Given the description of an element on the screen output the (x, y) to click on. 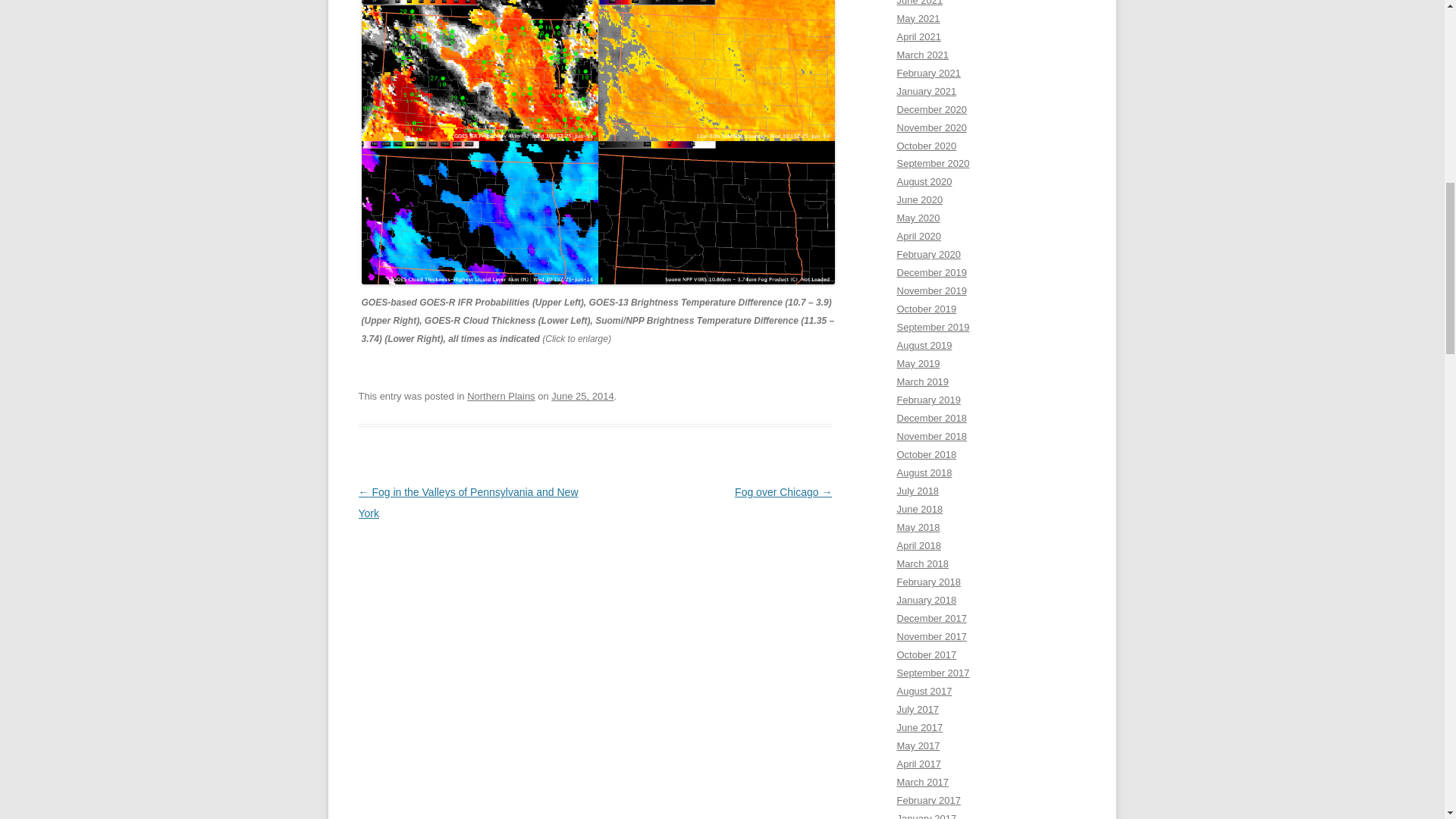
May 2020 (917, 217)
3:48 pm (581, 396)
April 2021 (918, 36)
August 2020 (924, 181)
June 2020 (919, 199)
November 2020 (931, 127)
December 2020 (931, 109)
May 2021 (917, 18)
February 2021 (927, 72)
June 25, 2014 (581, 396)
September 2020 (932, 163)
October 2020 (926, 144)
Northern Plains (501, 396)
January 2021 (926, 91)
March 2021 (922, 54)
